Given the description of an element on the screen output the (x, y) to click on. 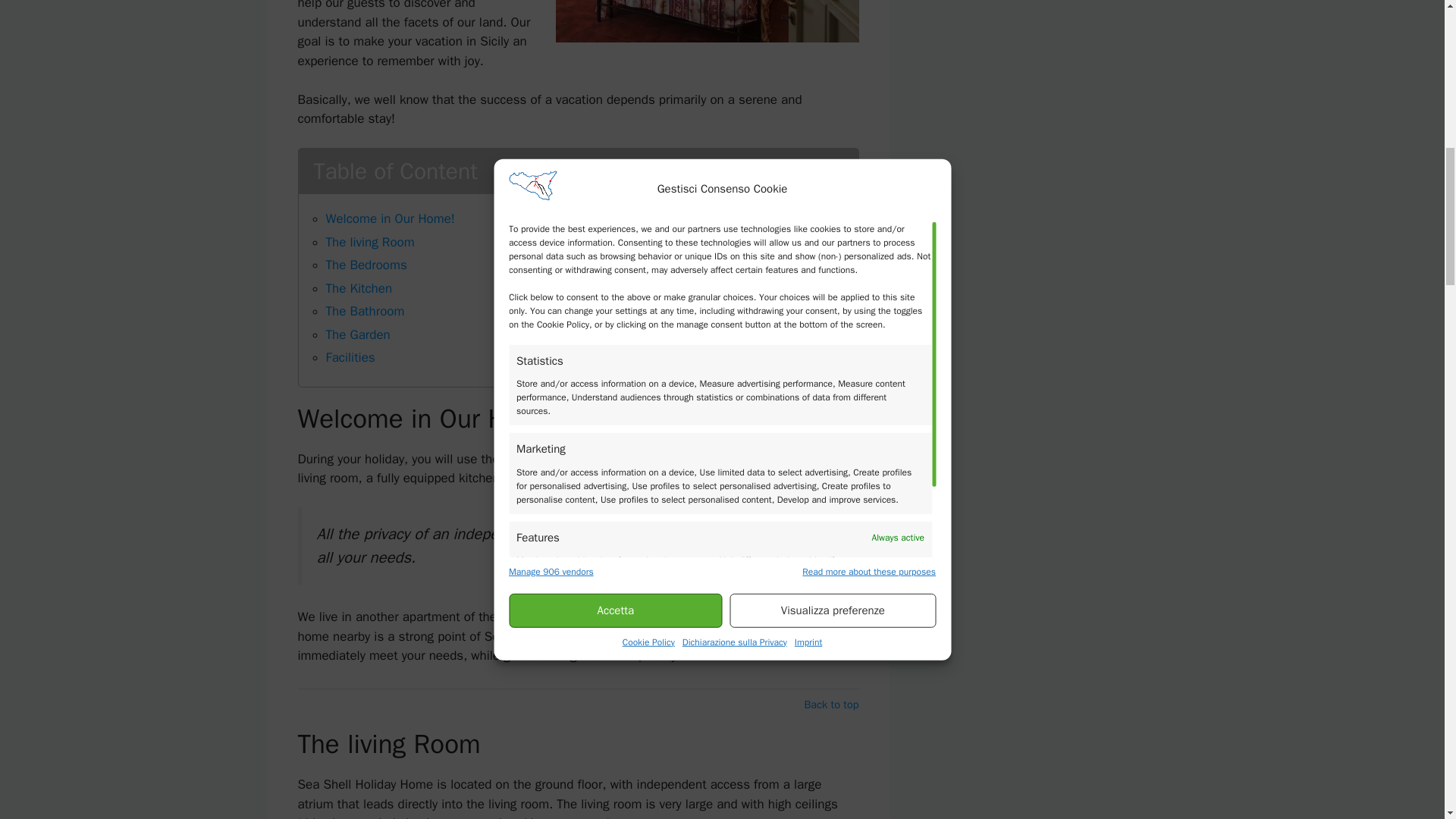
The Garden (358, 334)
Welcome in Our Home! (390, 218)
The living Room (370, 242)
Facilities (350, 357)
Back to top (831, 704)
The Bedrooms (366, 264)
The Kitchen (359, 288)
The Garden (358, 334)
Back to top (831, 704)
The Bathroom (365, 311)
Welcome in Our Home! (390, 218)
The living Room (370, 242)
Facilities (350, 357)
The Kitchen (359, 288)
The Bathroom (365, 311)
